Given the description of an element on the screen output the (x, y) to click on. 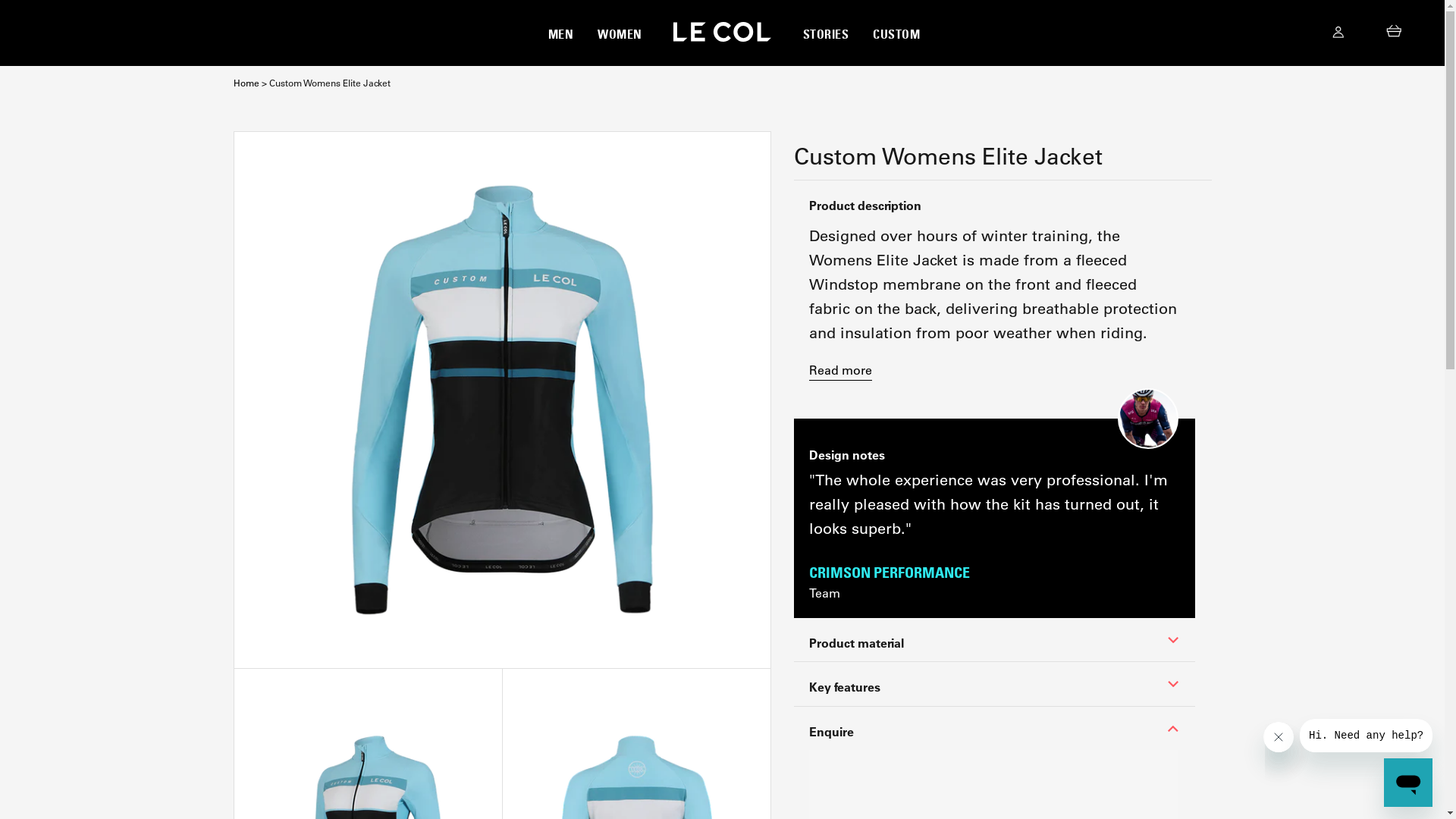
Read more Element type: text (840, 370)
WOMEN Element type: text (619, 32)
Button to launch messaging window Element type: hover (1407, 782)
LeColCustom Element type: hover (722, 31)
Home Element type: text (246, 82)
MEN Element type: text (560, 32)
Message from company Element type: hover (1365, 735)
White Element type: hover (501, 399)
Close message Element type: hover (1278, 736)
